Given the description of an element on the screen output the (x, y) to click on. 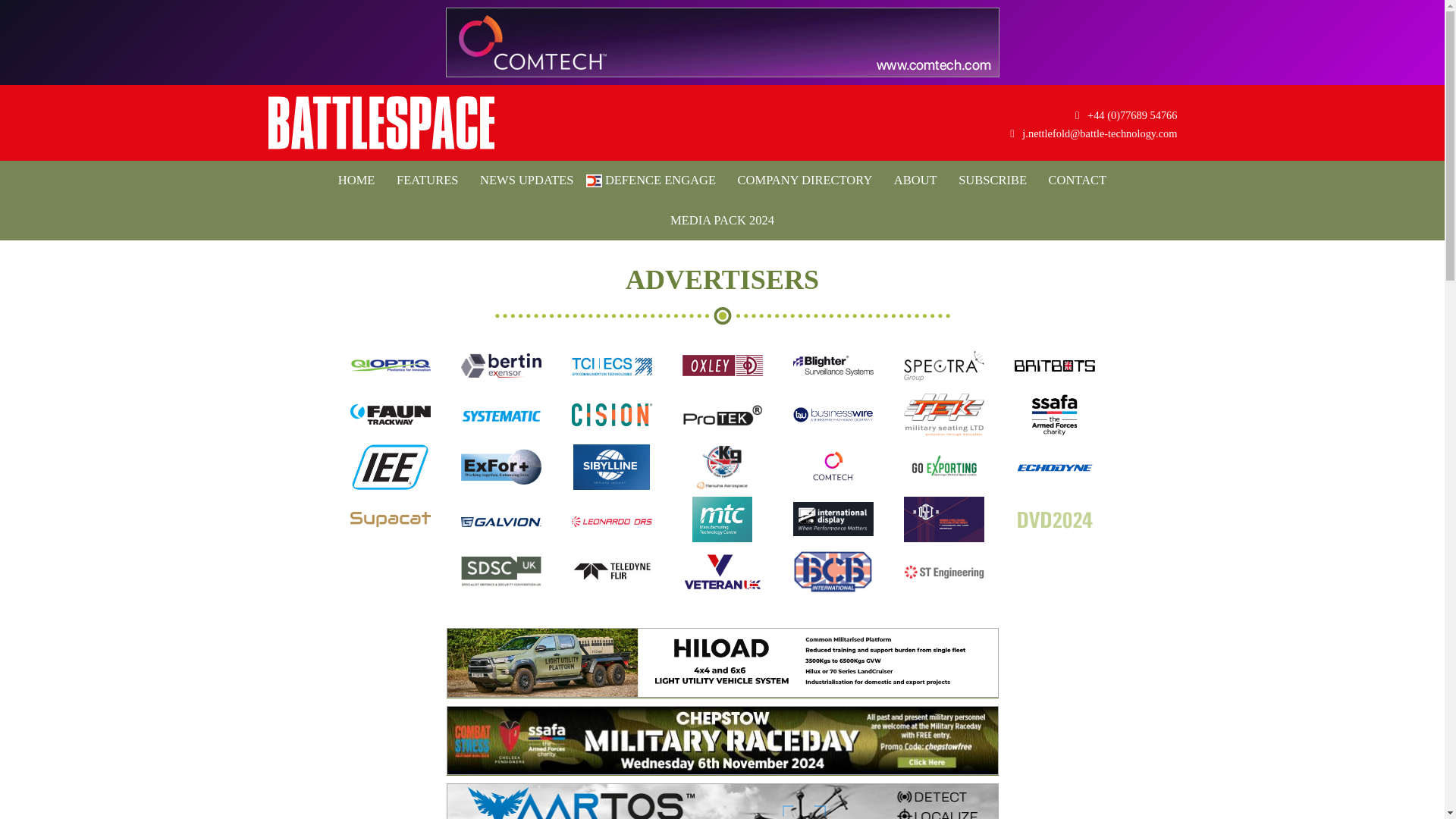
Opens PDF in new window. (722, 219)
HOME (356, 180)
ABOUT (915, 180)
SUBSCRIBE (992, 180)
CONTACT (1077, 180)
BATTLESPACE Updates (380, 122)
FEATURES (427, 180)
COMPANY DIRECTORY (805, 180)
qioptiq.com (390, 374)
